Given the description of an element on the screen output the (x, y) to click on. 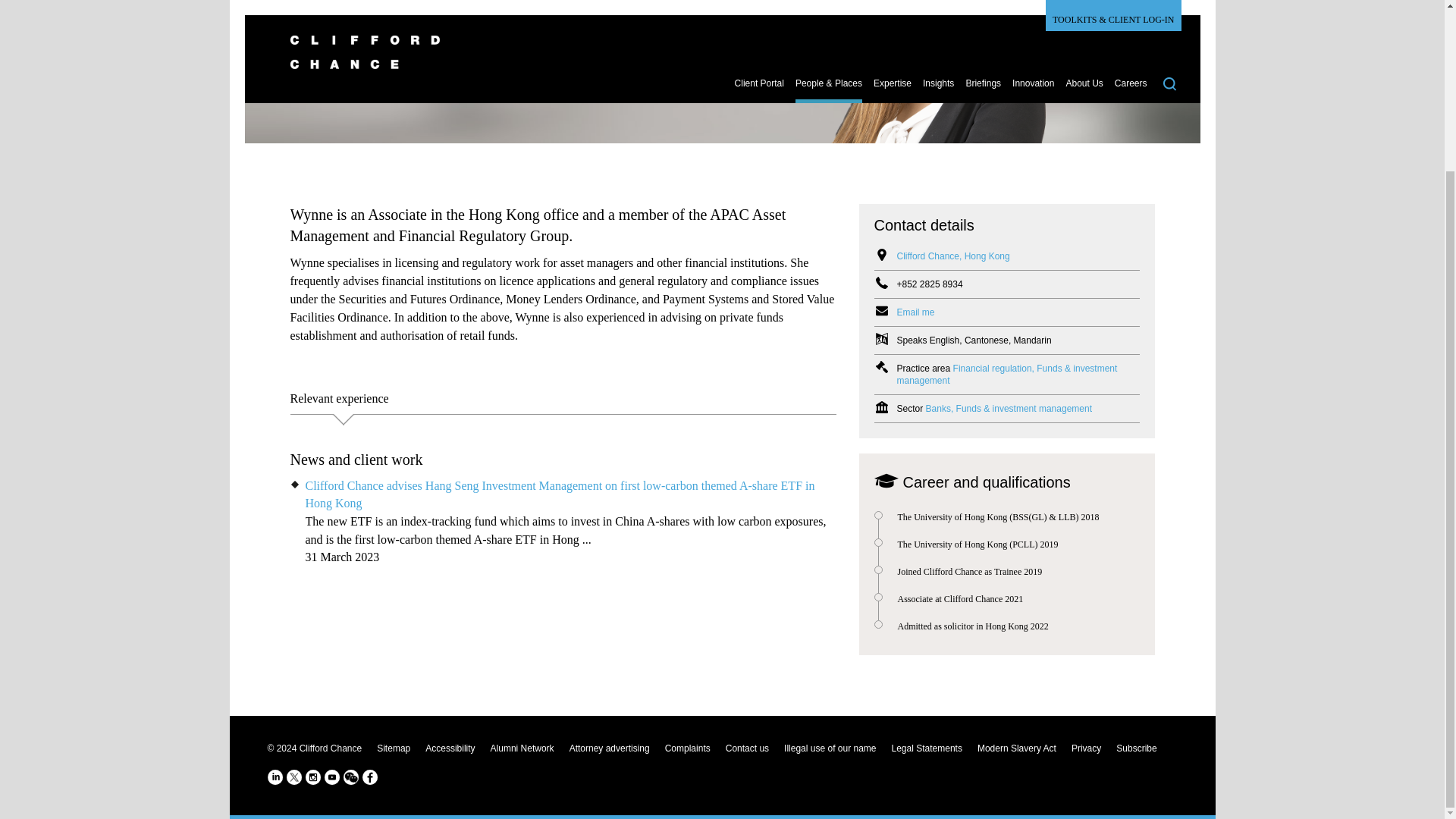
Go to Clifford Chance, Hong Kong office page (952, 255)
